Given the description of an element on the screen output the (x, y) to click on. 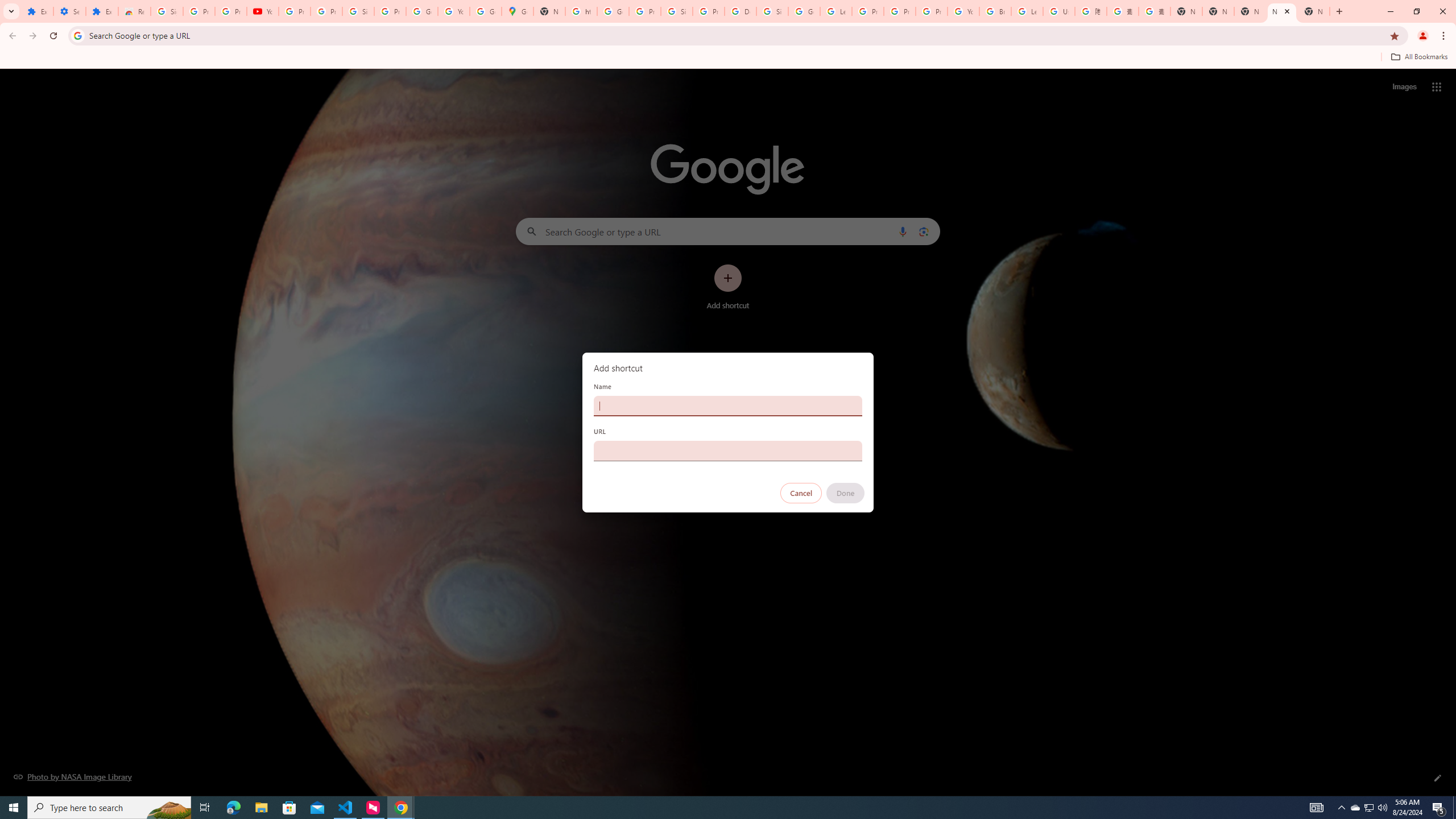
Bookmarks (728, 58)
Reviews: Helix Fruit Jump Arcade Game (134, 11)
Done (845, 493)
Sign in - Google Accounts (166, 11)
Privacy Help Center - Policies Help (899, 11)
